Given the description of an element on the screen output the (x, y) to click on. 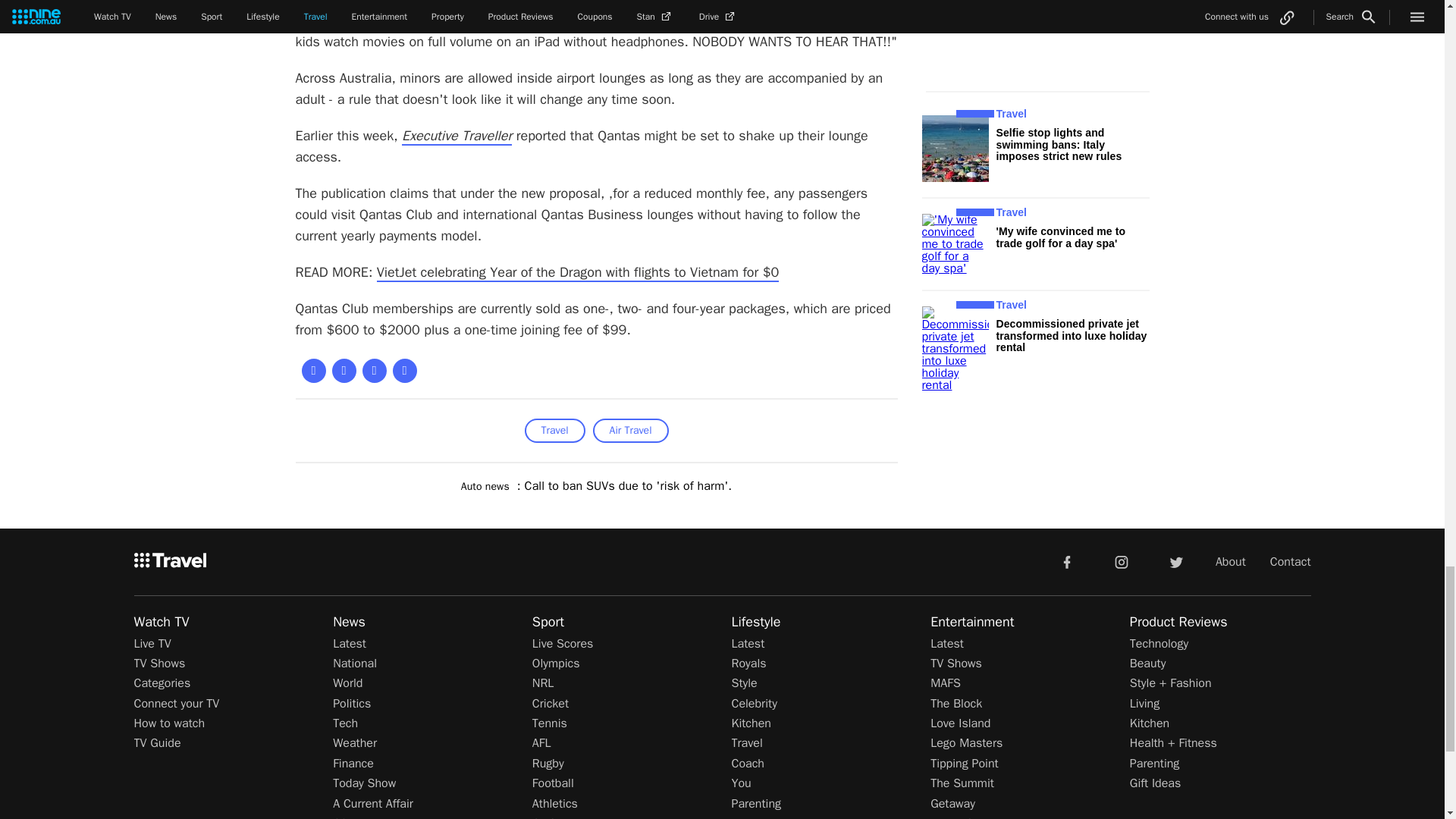
twitter (1175, 561)
Executive Traveller (456, 136)
instagram (1121, 561)
facebook (1066, 561)
